Given the description of an element on the screen output the (x, y) to click on. 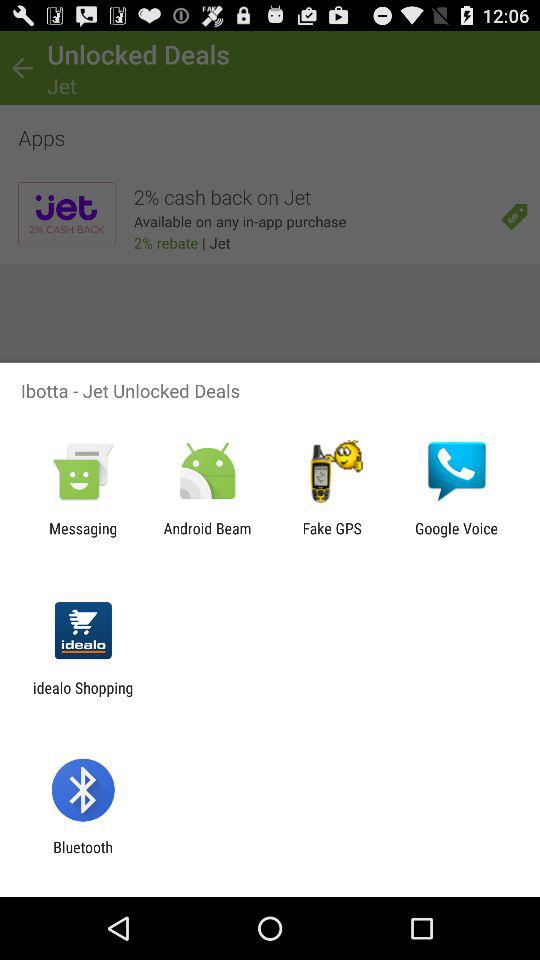
choose item next to the google voice app (331, 537)
